Given the description of an element on the screen output the (x, y) to click on. 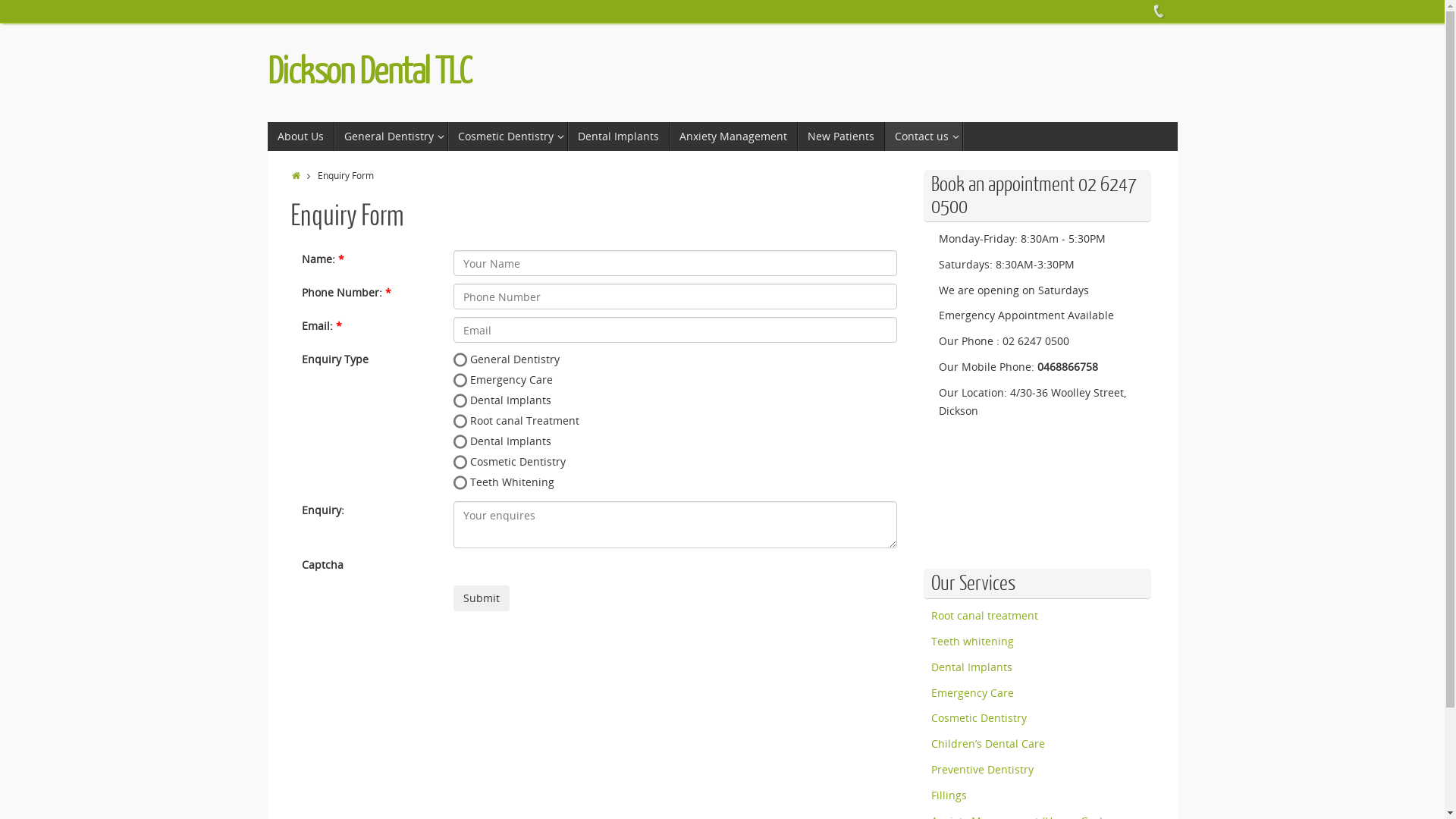
Root canal treatment Element type: text (984, 615)
Cosmetic Dentistry Element type: text (978, 717)
Contact us Element type: text (923, 136)
Fillings Element type: text (948, 794)
Submit Element type: text (481, 598)
Preventive Dentistry Element type: text (982, 769)
0262470500 Element type: hover (1157, 11)
Dickson Dental TLC Element type: text (368, 71)
Teeth whitening Element type: text (972, 640)
About Us Element type: text (299, 136)
Dental Implants Element type: text (617, 136)
Anxiety Management Element type: text (732, 136)
Dental Implants Element type: text (971, 666)
New Patients Element type: text (840, 136)
General Dentistry Element type: text (390, 136)
Cosmetic Dentistry Element type: text (507, 136)
Emergency Care Element type: text (972, 692)
